Given the description of an element on the screen output the (x, y) to click on. 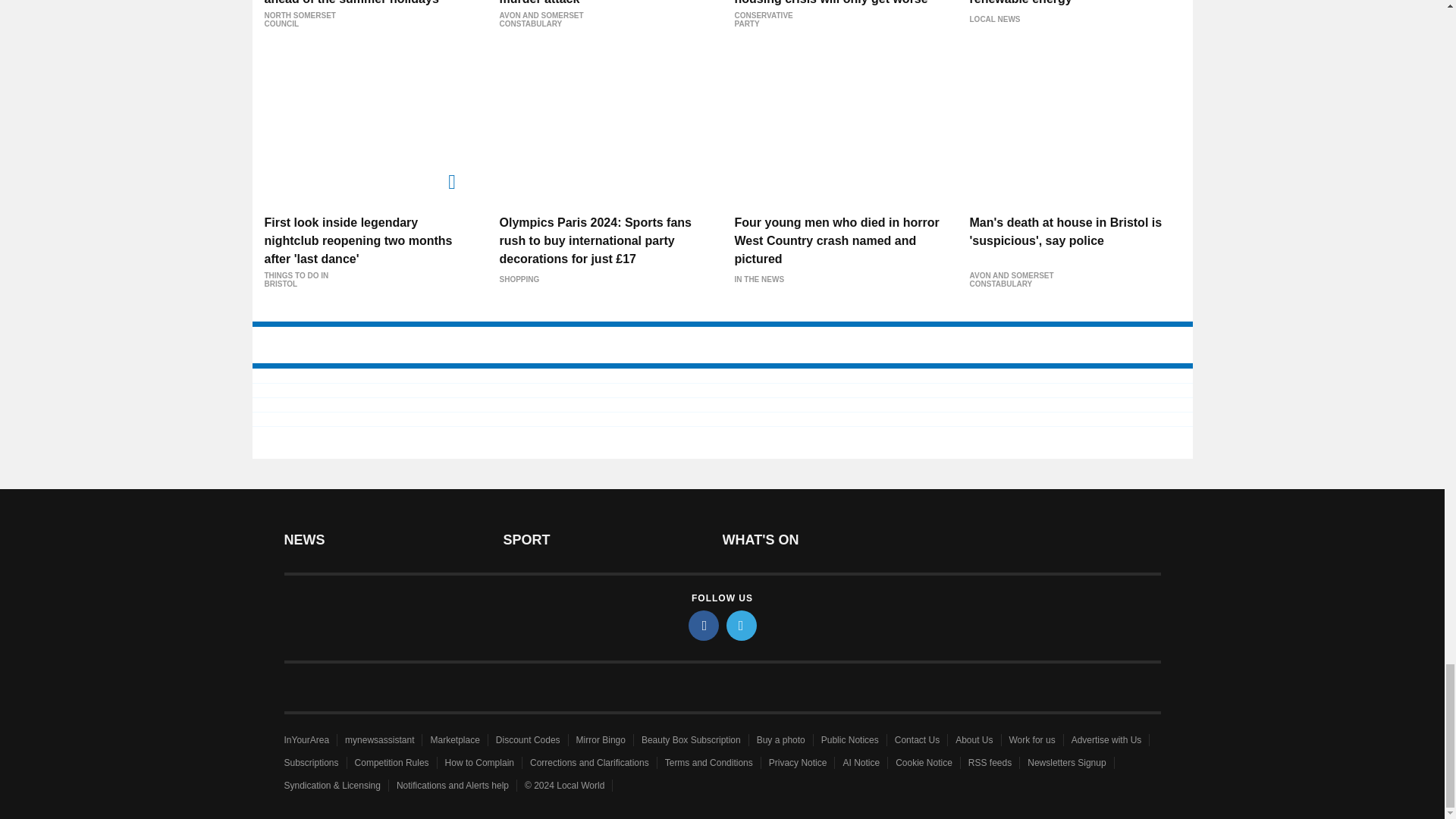
twitter (741, 625)
facebook (703, 625)
